Given the description of an element on the screen output the (x, y) to click on. 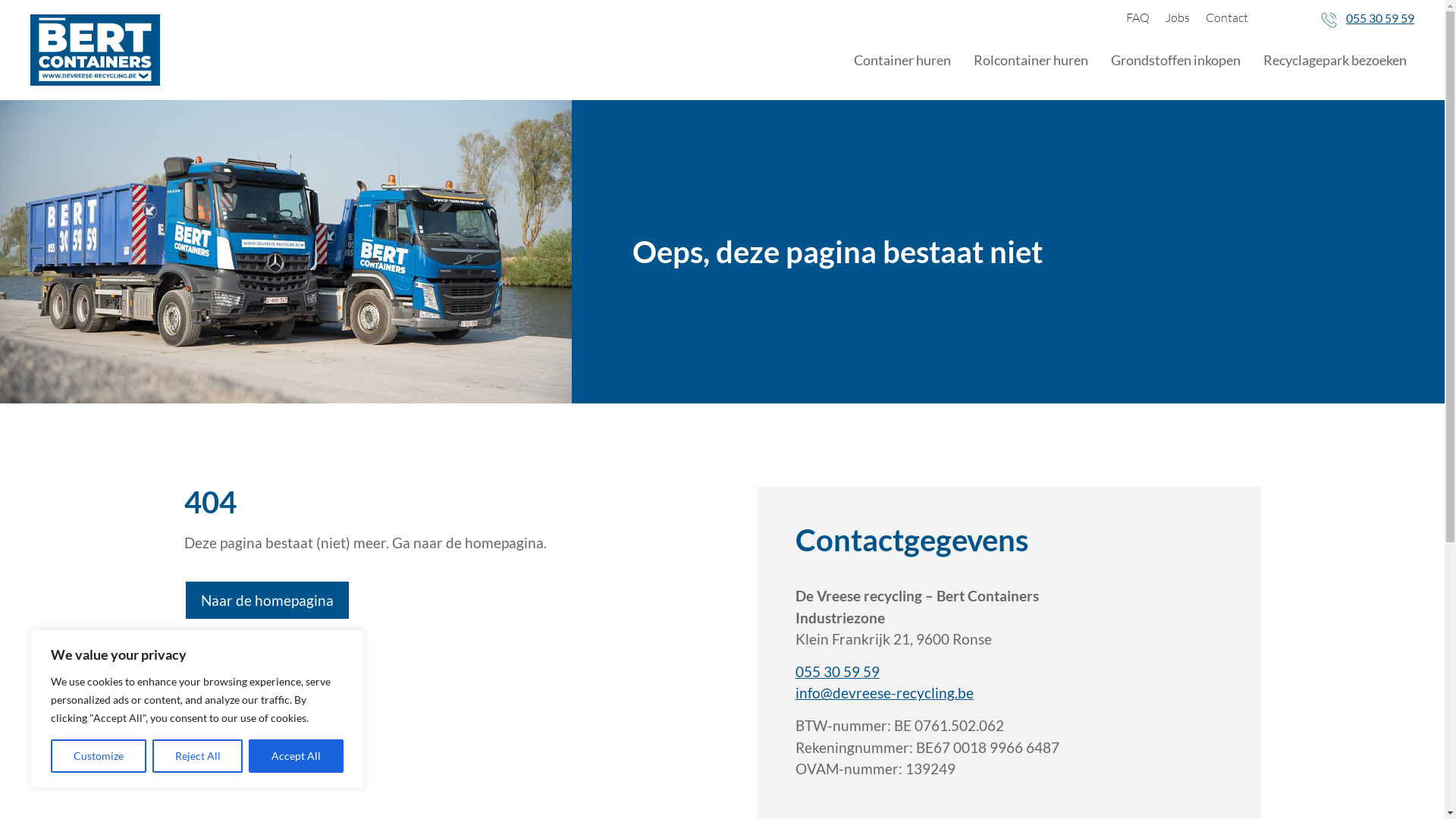
info@devreese-recycling.be Element type: text (884, 692)
Jobs Element type: text (1177, 17)
FAQ Element type: text (1137, 17)
Naar de homepagina Element type: text (266, 600)
055 30 59 59 Element type: text (837, 671)
Container huren Element type: text (901, 59)
Rolcontainer huren Element type: text (1030, 59)
Reject All Element type: text (197, 755)
Customize Element type: text (98, 755)
Accept All Element type: text (295, 755)
Contact Element type: text (1226, 17)
Recyclagepark bezoeken Element type: text (1334, 59)
055 30 59 59 Element type: text (1380, 17)
Grondstoffen inkopen Element type: text (1175, 59)
